Given the description of an element on the screen output the (x, y) to click on. 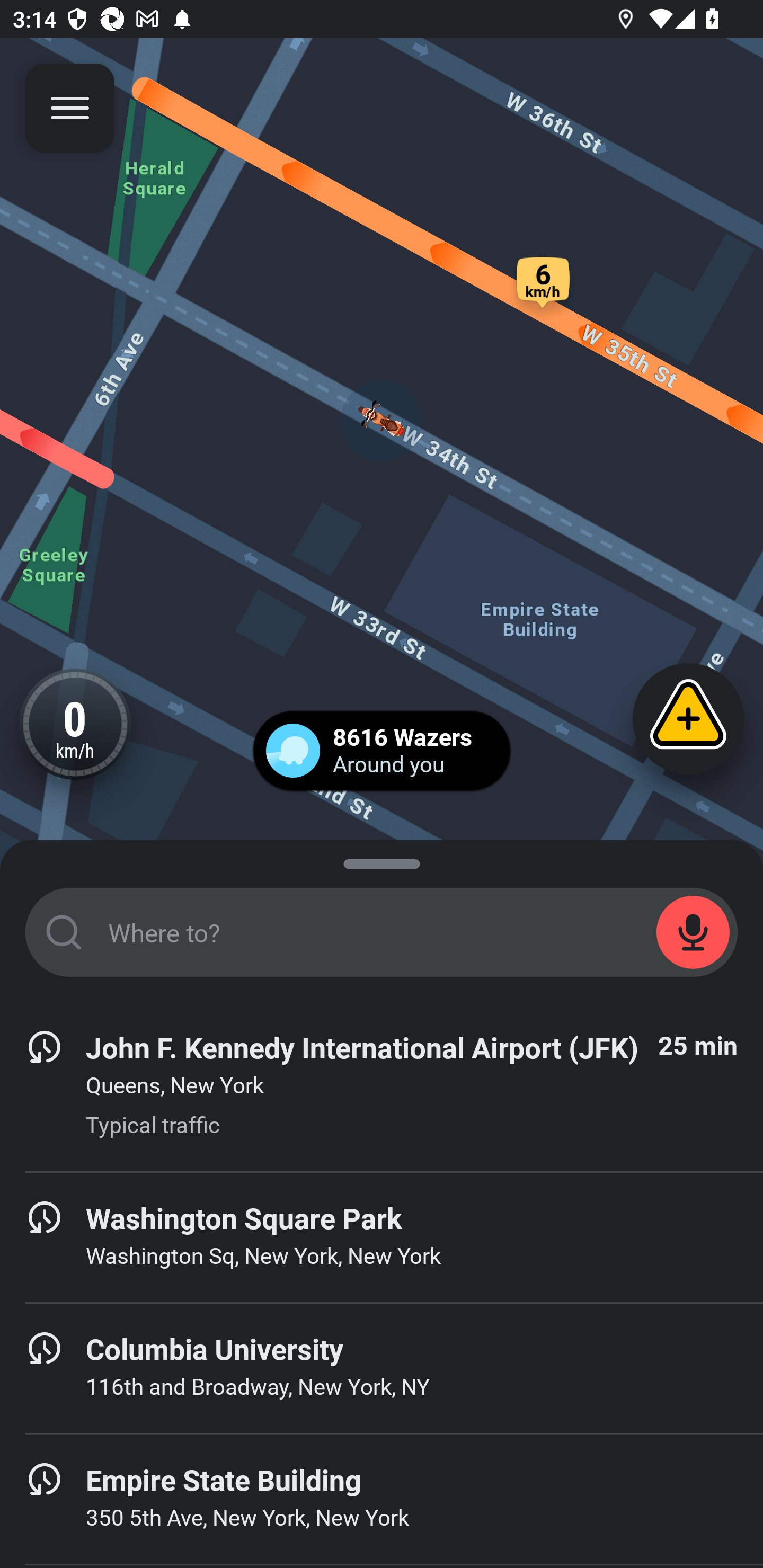
SUGGESTIONS_SHEET_DRAG_HANDLE (381, 860)
START_STATE_SEARCH_FIELD Where to? (381, 931)
